Given the description of an element on the screen output the (x, y) to click on. 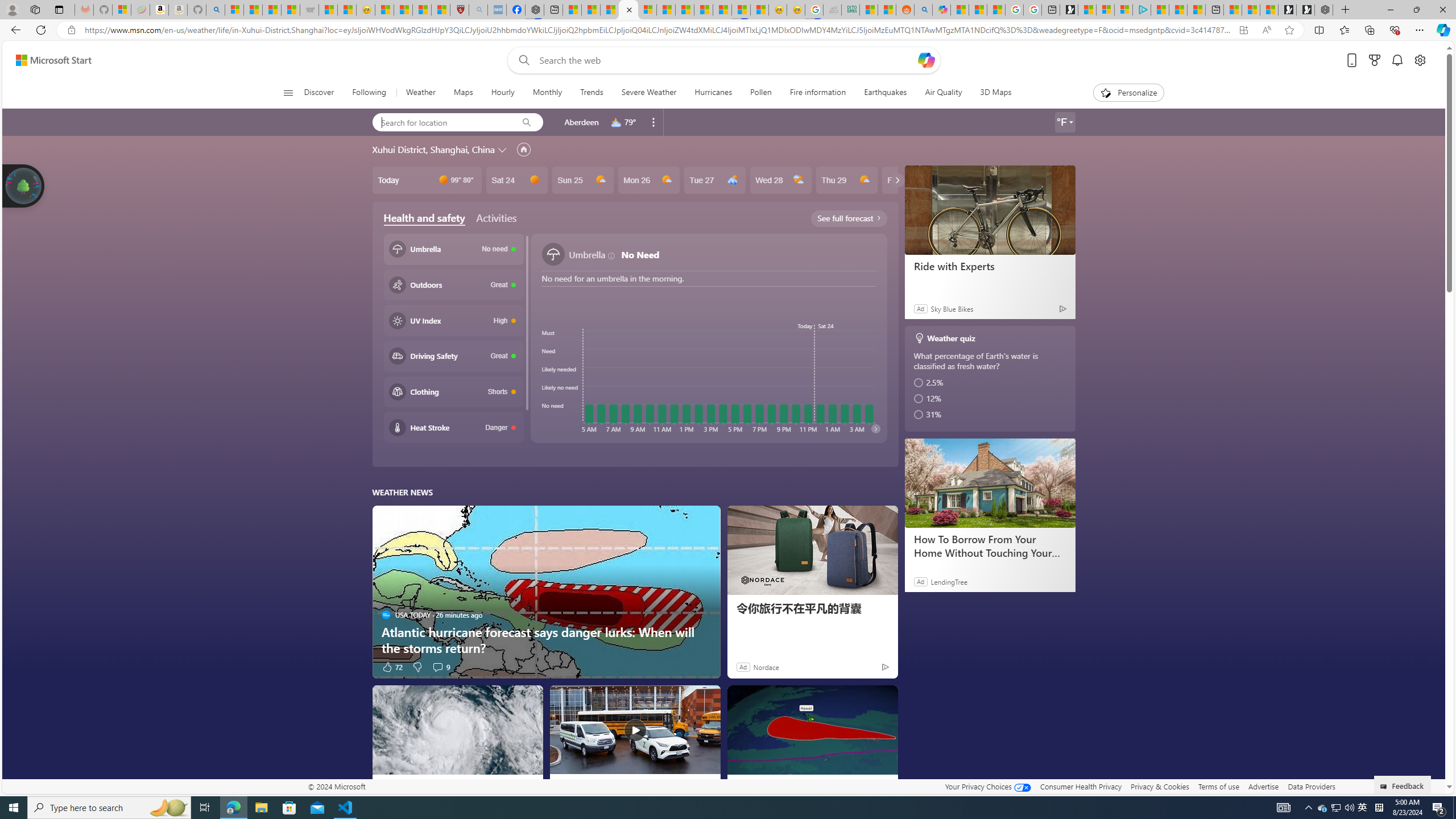
Wed 28 (779, 180)
Activities (496, 217)
12% (990, 398)
Sky Blue Bikes (951, 308)
